Given the description of an element on the screen output the (x, y) to click on. 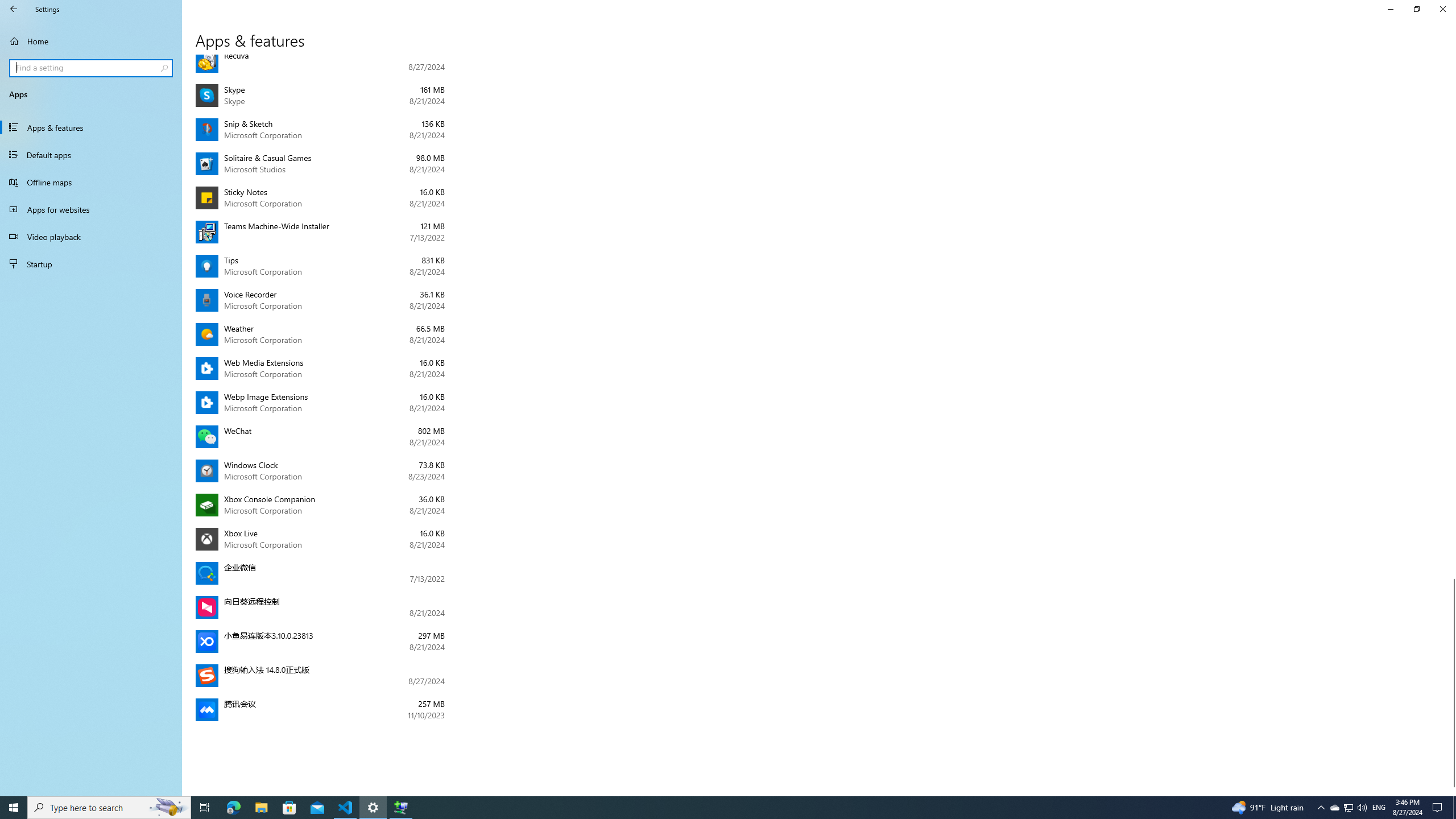
Extensible Wizards Host Process - 1 running window (400, 807)
Action Center, No new notifications (1439, 807)
Apps for websites (91, 208)
Default apps (91, 154)
Search highlights icon opens search home window (167, 807)
Microsoft Edge (1333, 807)
Startup (233, 807)
Microsoft Store (91, 263)
Notification Chevron (289, 807)
